Given the description of an element on the screen output the (x, y) to click on. 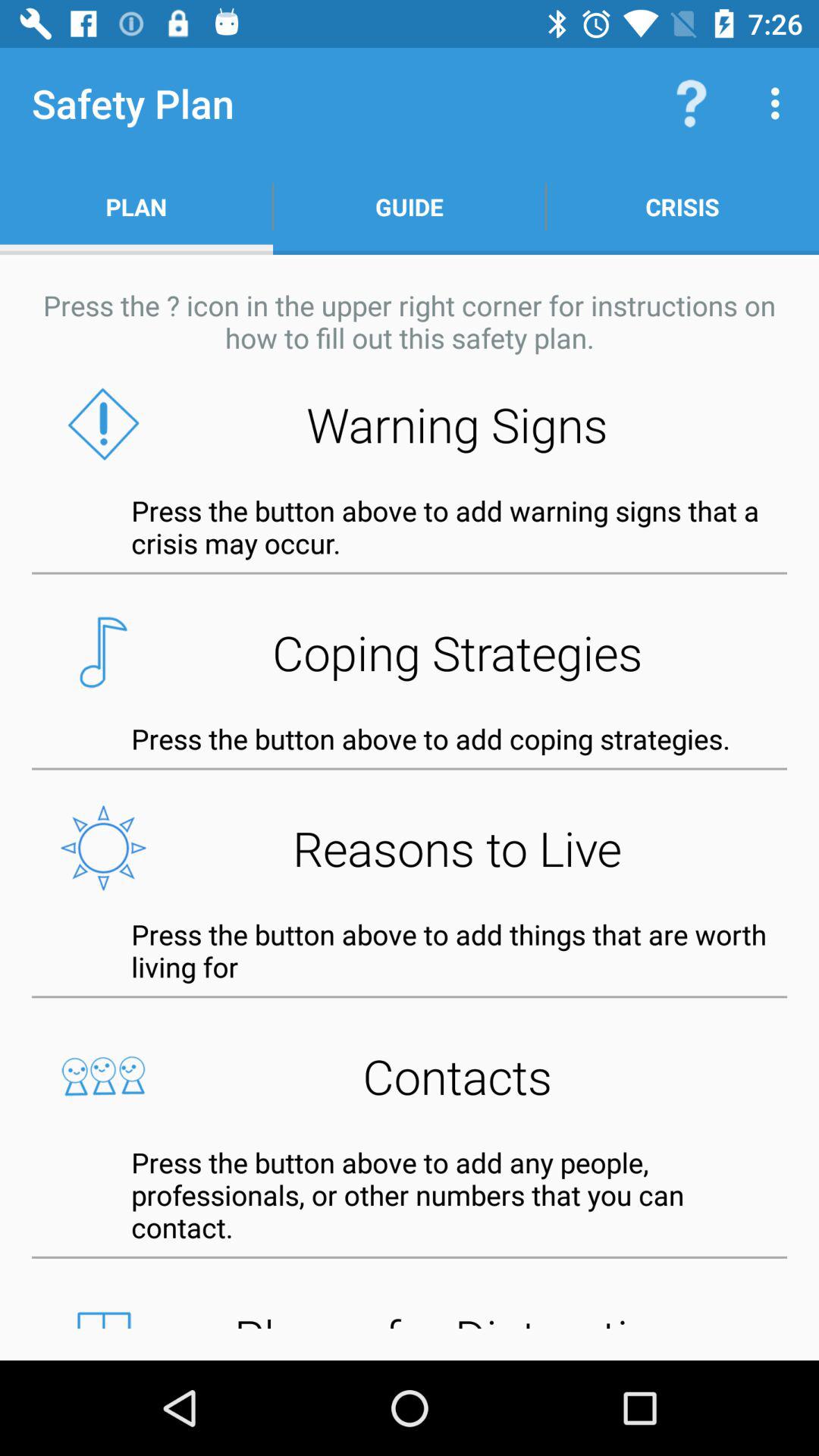
turn off the icon above the press the icon item (409, 206)
